Given the description of an element on the screen output the (x, y) to click on. 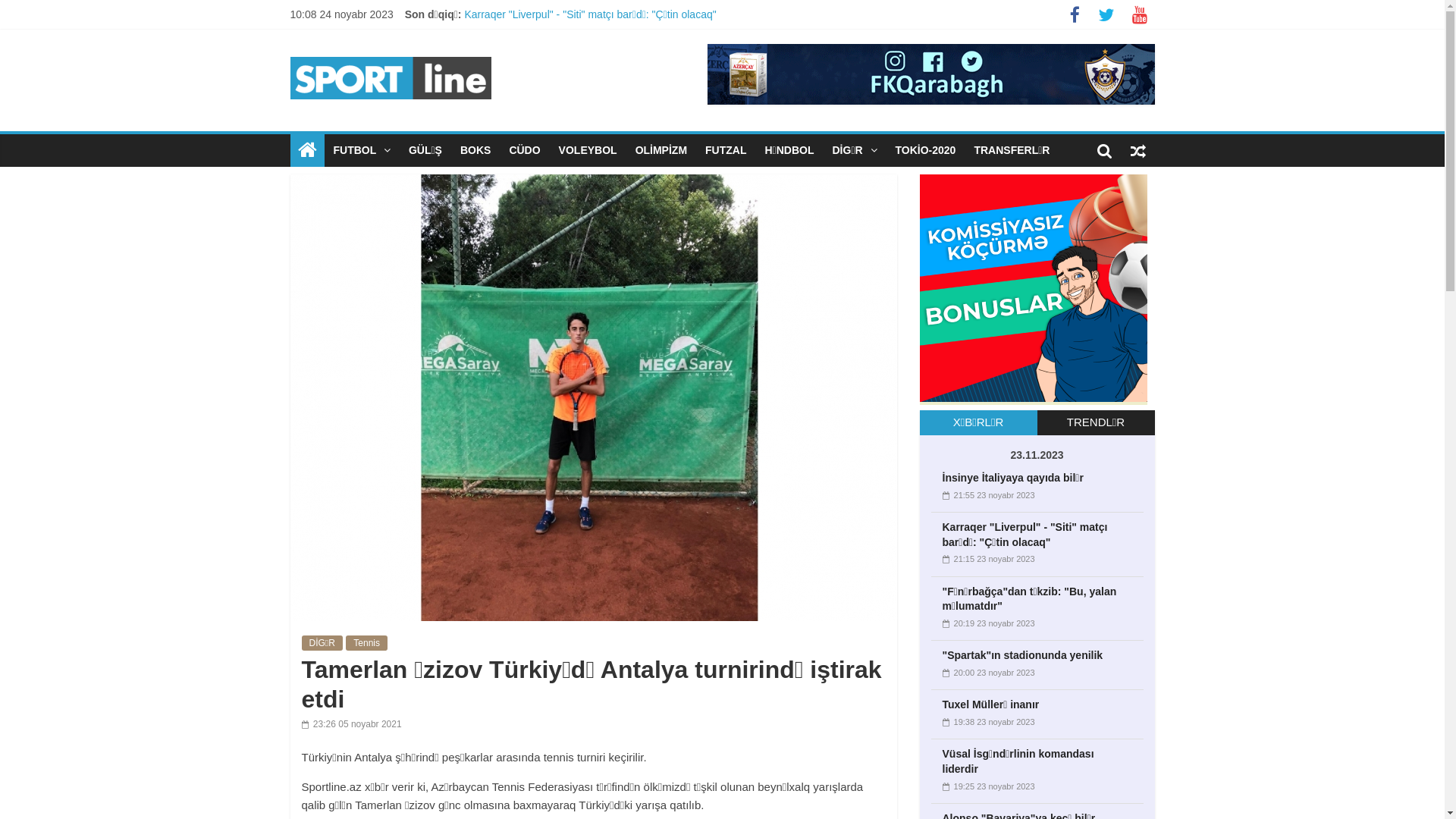
BOKS Element type: text (475, 150)
sportline.az Element type: hover (306, 150)
Tennis Element type: text (366, 642)
sportline.az Element type: hover (389, 53)
VOLEYBOL Element type: text (587, 150)
20:00 23 noyabr 2023 Element type: text (987, 672)
Dastin Poryenin arzusu Element type: text (519, 133)
20:19 23 noyabr 2023 Element type: text (987, 622)
19:25 23 noyabr 2023 Element type: text (987, 785)
FUTZAL Element type: text (725, 150)
TOKIO-2020 Element type: text (925, 150)
21:15 23 noyabr 2023 Element type: text (987, 558)
23:26 05 noyabr 2021 Element type: text (351, 723)
FUTBOL Element type: text (361, 150)
19:38 23 noyabr 2023 Element type: text (987, 721)
21:55 23 noyabr 2023 Element type: text (987, 494)
